Given the description of an element on the screen output the (x, y) to click on. 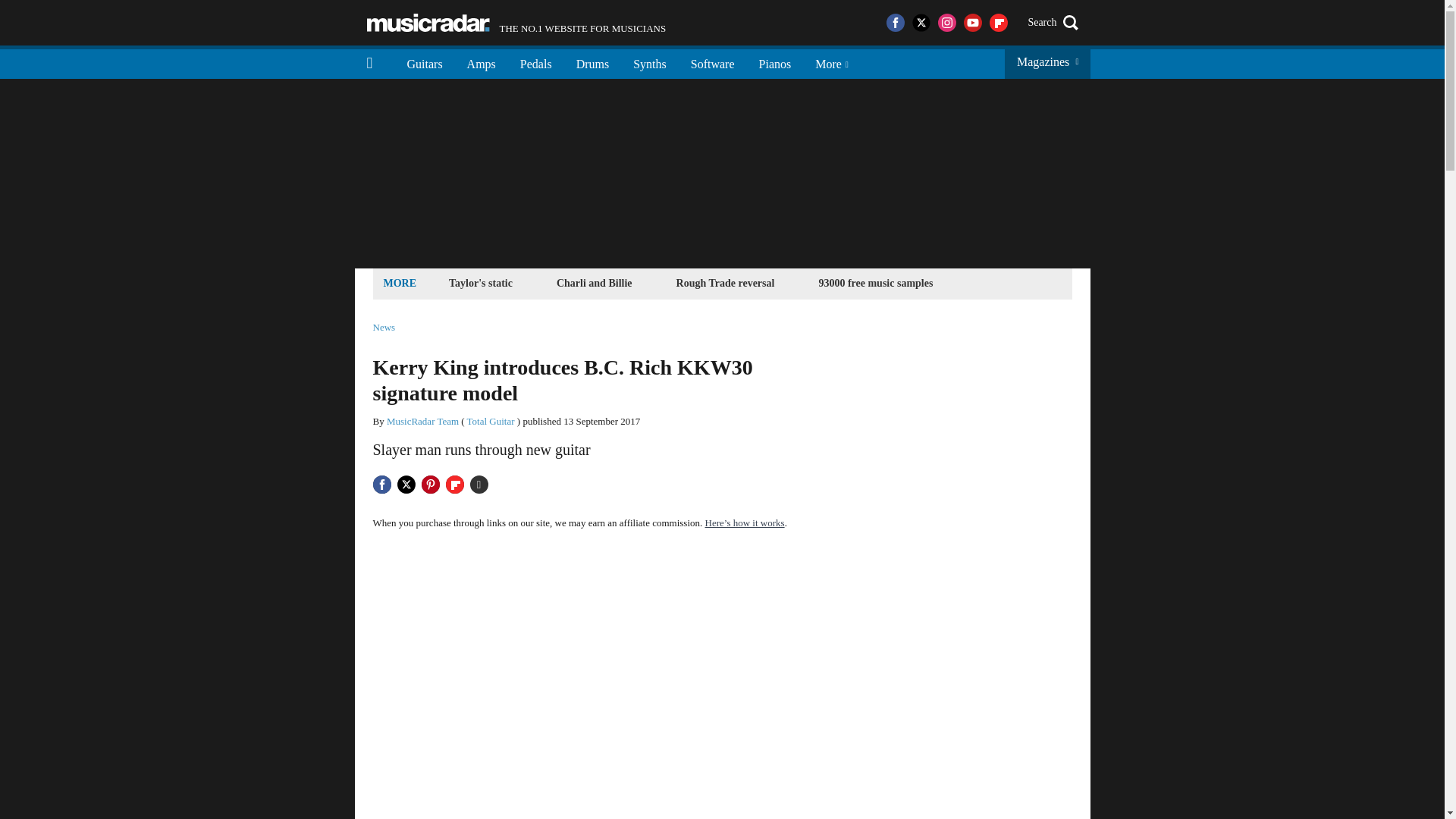
Drums (592, 61)
Rough Trade reversal (725, 282)
Synths (649, 61)
MusicRadar Team (516, 22)
93000 free music samples (422, 420)
Pianos (874, 282)
Guitars (774, 61)
Charli and Billie (424, 61)
Taylor's static (594, 282)
